Given the description of an element on the screen output the (x, y) to click on. 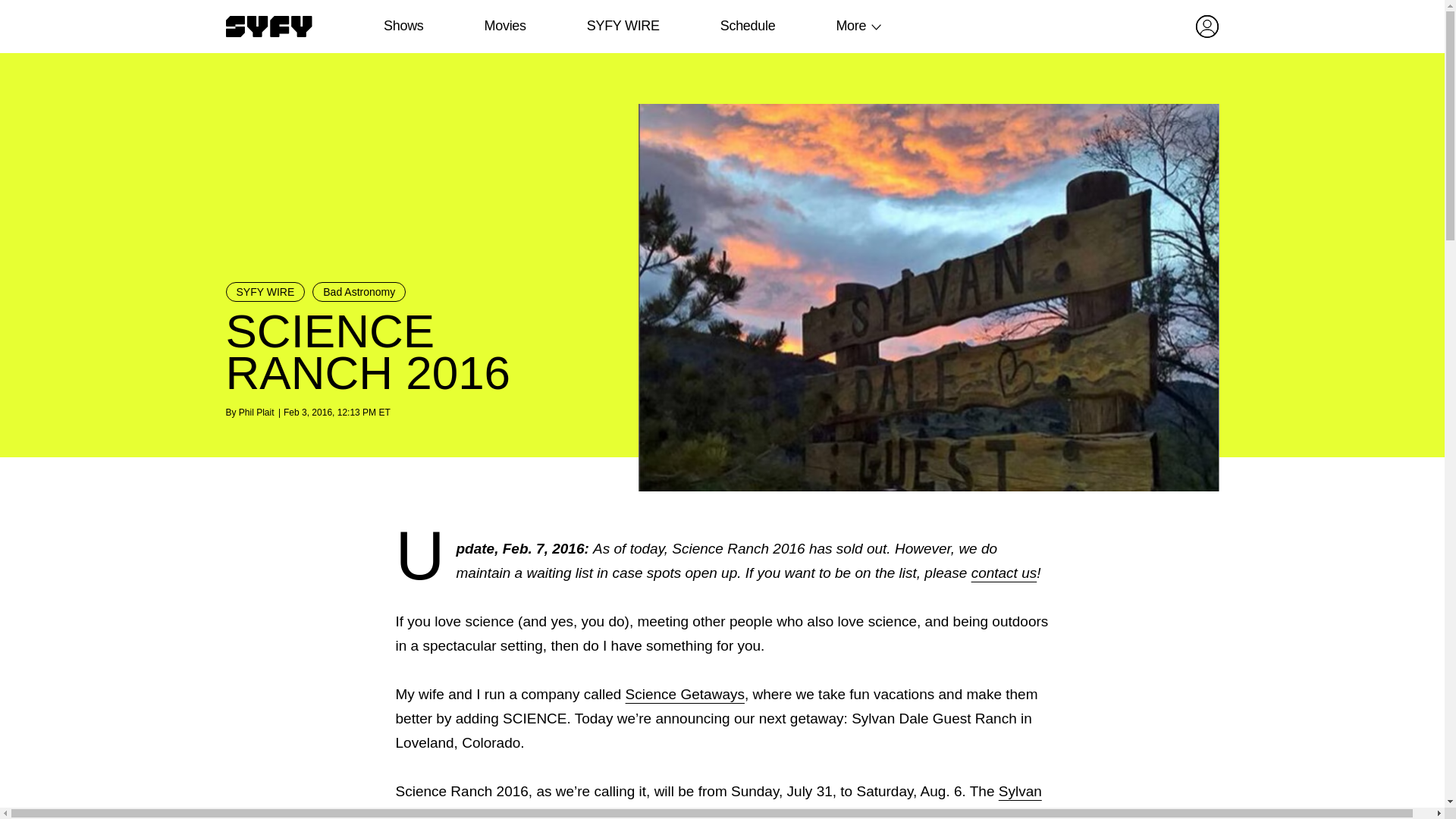
SYFY WIRE (622, 26)
Sylvan Dale Guest Ranch (719, 800)
Science Getaways (685, 693)
More (850, 26)
Shows (403, 26)
contact us (1003, 572)
SYFY WIRE (265, 291)
Phil Plait (256, 412)
Schedule (746, 26)
Bad Astronomy (359, 291)
Movies (504, 26)
